Given the description of an element on the screen output the (x, y) to click on. 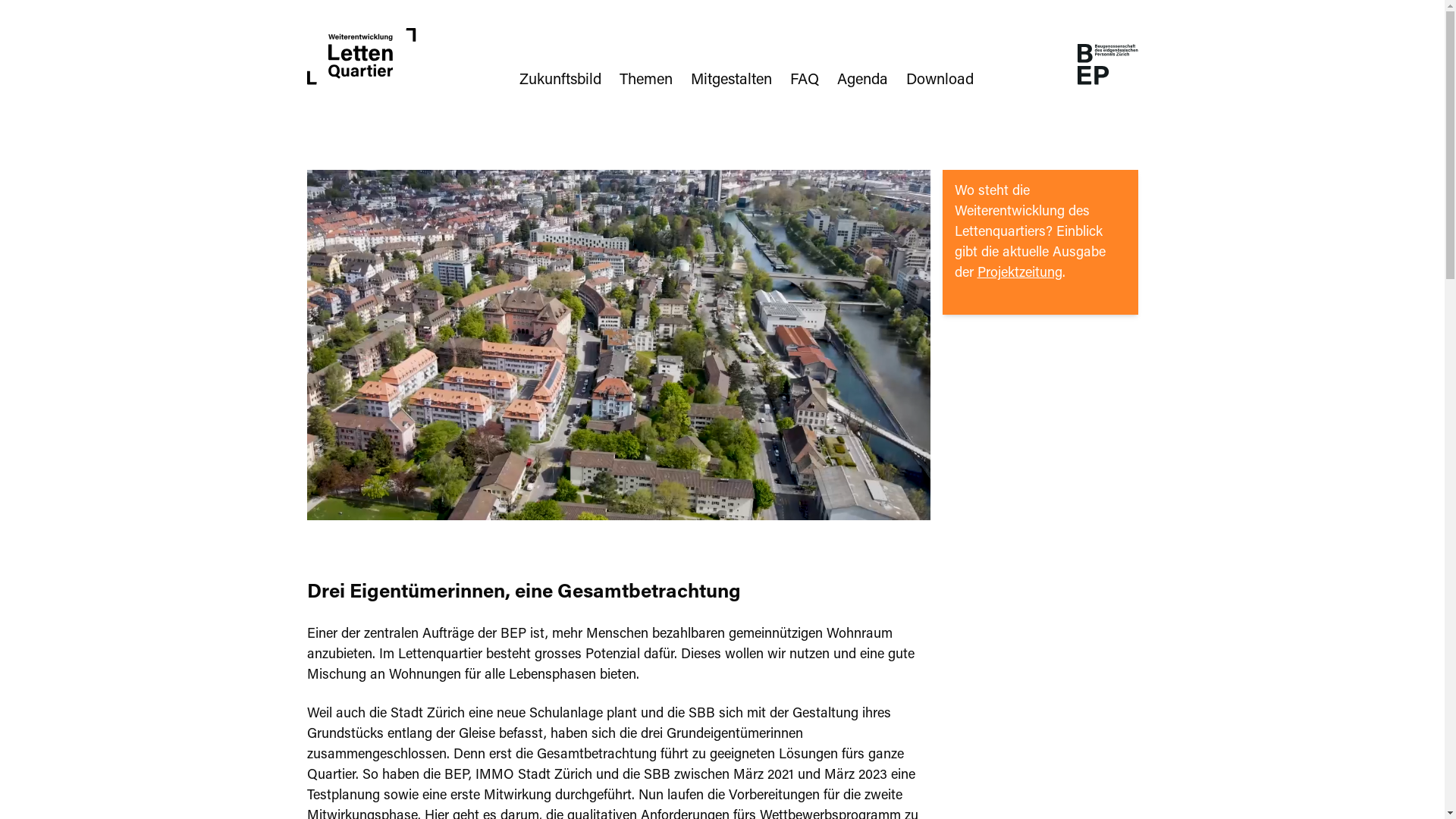
Zukunftsbild Element type: text (560, 80)
Agenda Element type: text (862, 80)
FAQ Element type: text (804, 80)
Mitgestalten Element type: text (730, 80)
Projektzeitung Element type: text (1018, 273)
Download Element type: text (939, 80)
Themen Element type: text (645, 80)
